Given the description of an element on the screen output the (x, y) to click on. 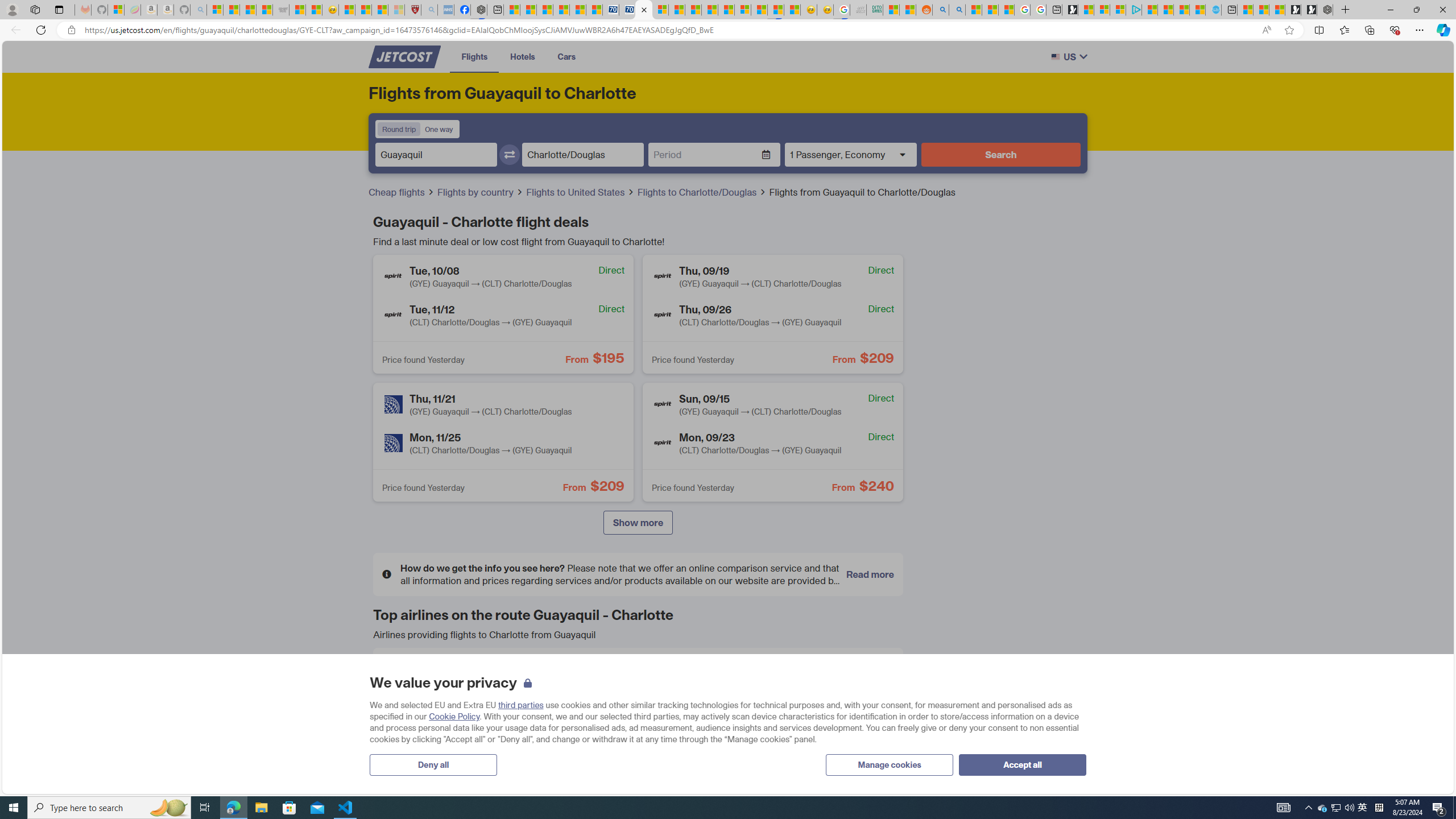
Arrival place (583, 154)
Spirit Airlines Spirit Airlines (809, 716)
Accept all (1022, 764)
